Given the description of an element on the screen output the (x, y) to click on. 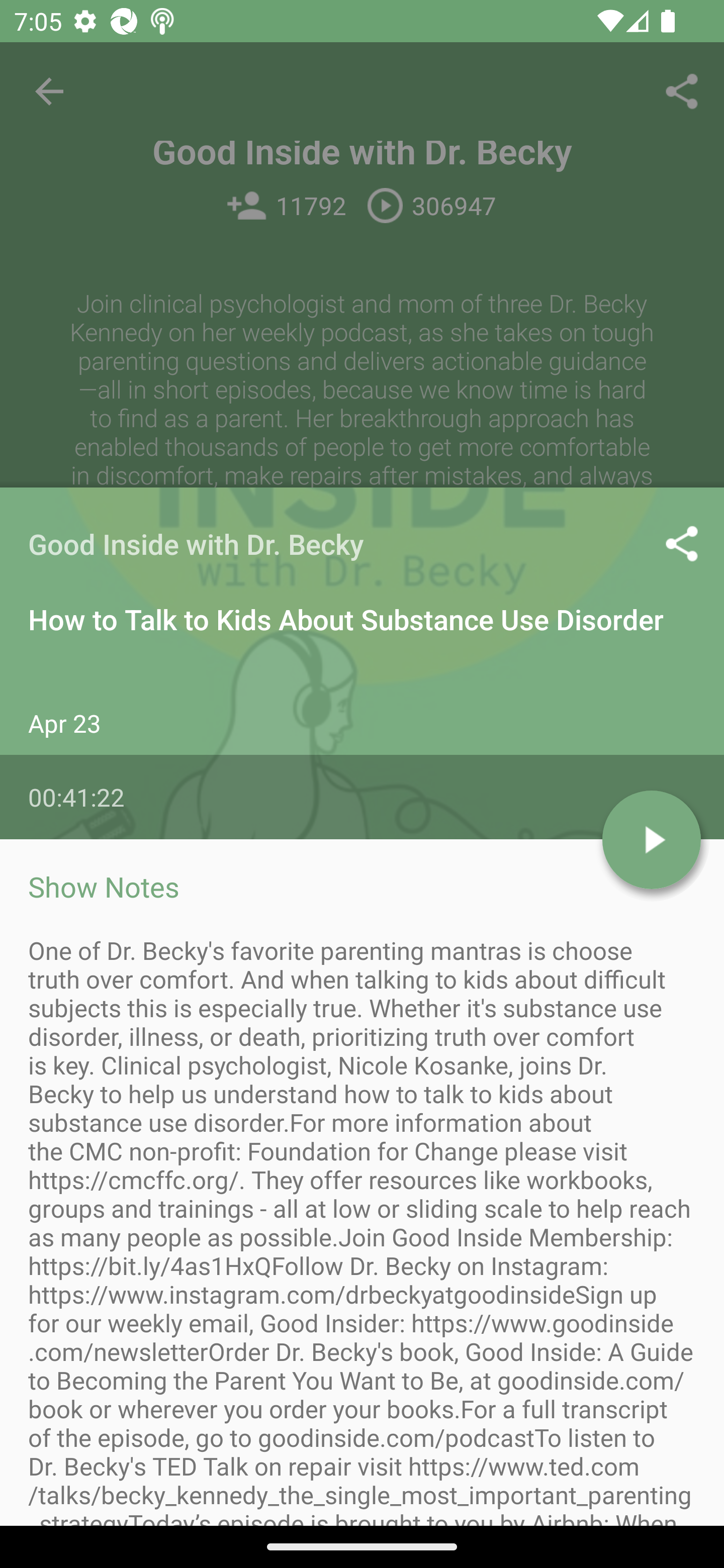
Apr 2 Revisit - When Only One Parent Will Do (362, 1222)
Mar 26 The Anxious Generation with Jonathan Haidt (362, 1340)
